Given the description of an element on the screen output the (x, y) to click on. 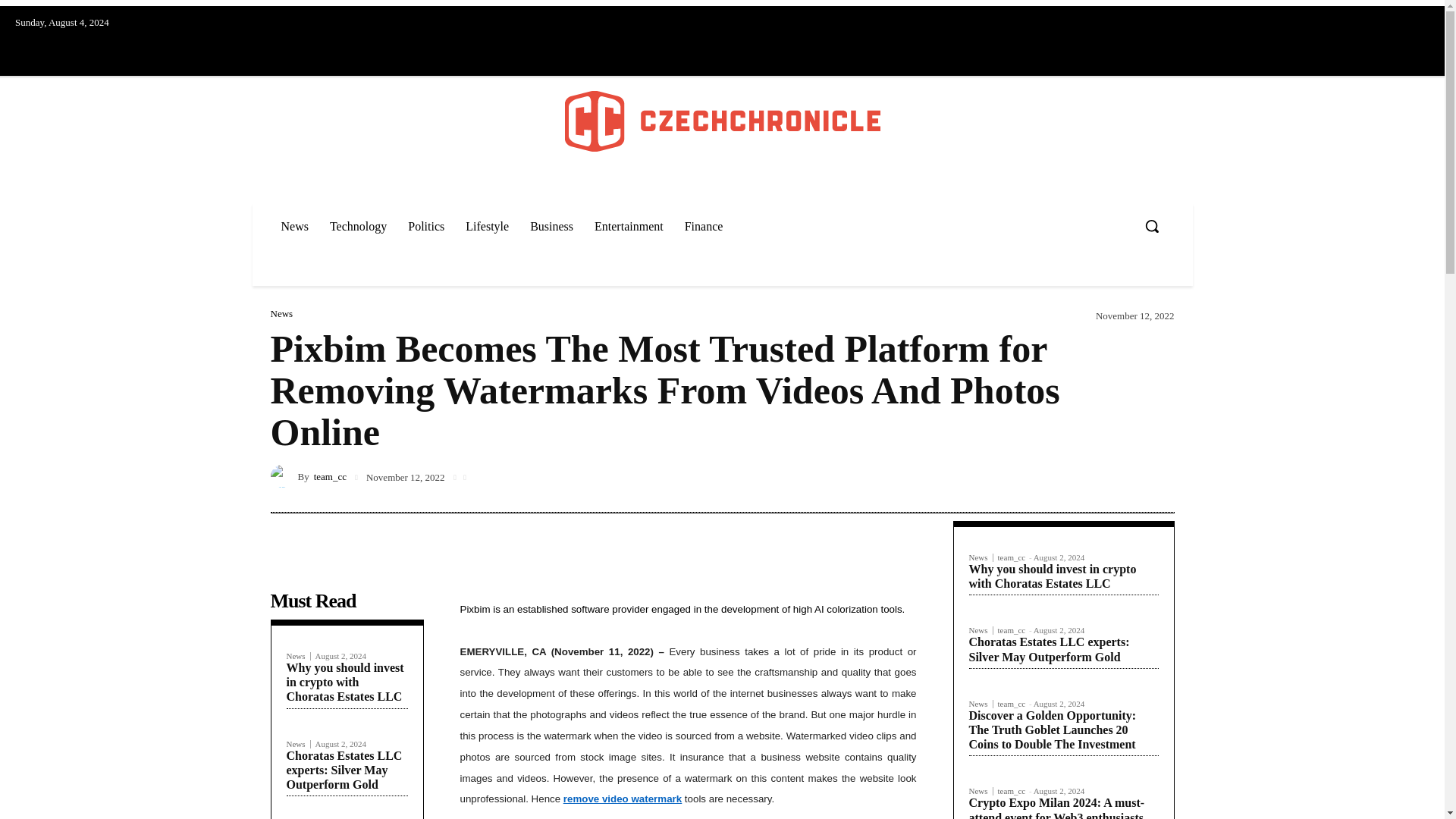
News (298, 655)
Technology (357, 226)
Entertainment (628, 226)
Choratas Estates LLC experts: Silver May Outperform Gold (344, 770)
News (293, 226)
Why you should invest in crypto with Choratas Estates LLC (345, 681)
Business (551, 226)
News (280, 313)
Lifestyle (486, 226)
Why you should invest in crypto with Choratas Estates LLC (345, 681)
Finance (703, 226)
News (298, 744)
Politics (425, 226)
